Given the description of an element on the screen output the (x, y) to click on. 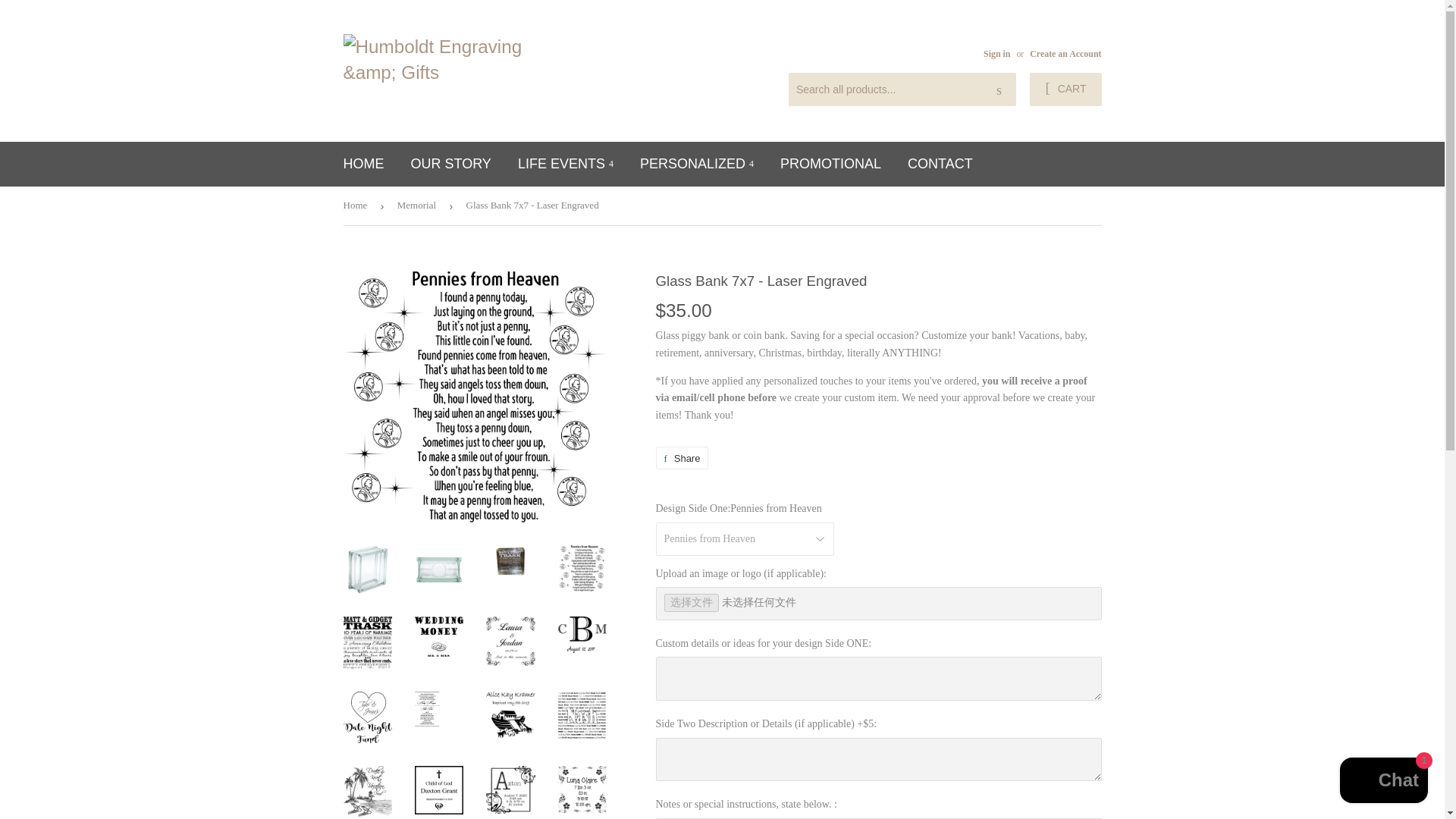
Create an Account (1064, 53)
OUR STORY (450, 163)
HOME (363, 163)
Sign in (997, 53)
Share on Facebook (681, 457)
CART (1064, 89)
Shopify online store chat (1383, 781)
LIFE EVENTS (565, 163)
Search (998, 90)
